Given the description of an element on the screen output the (x, y) to click on. 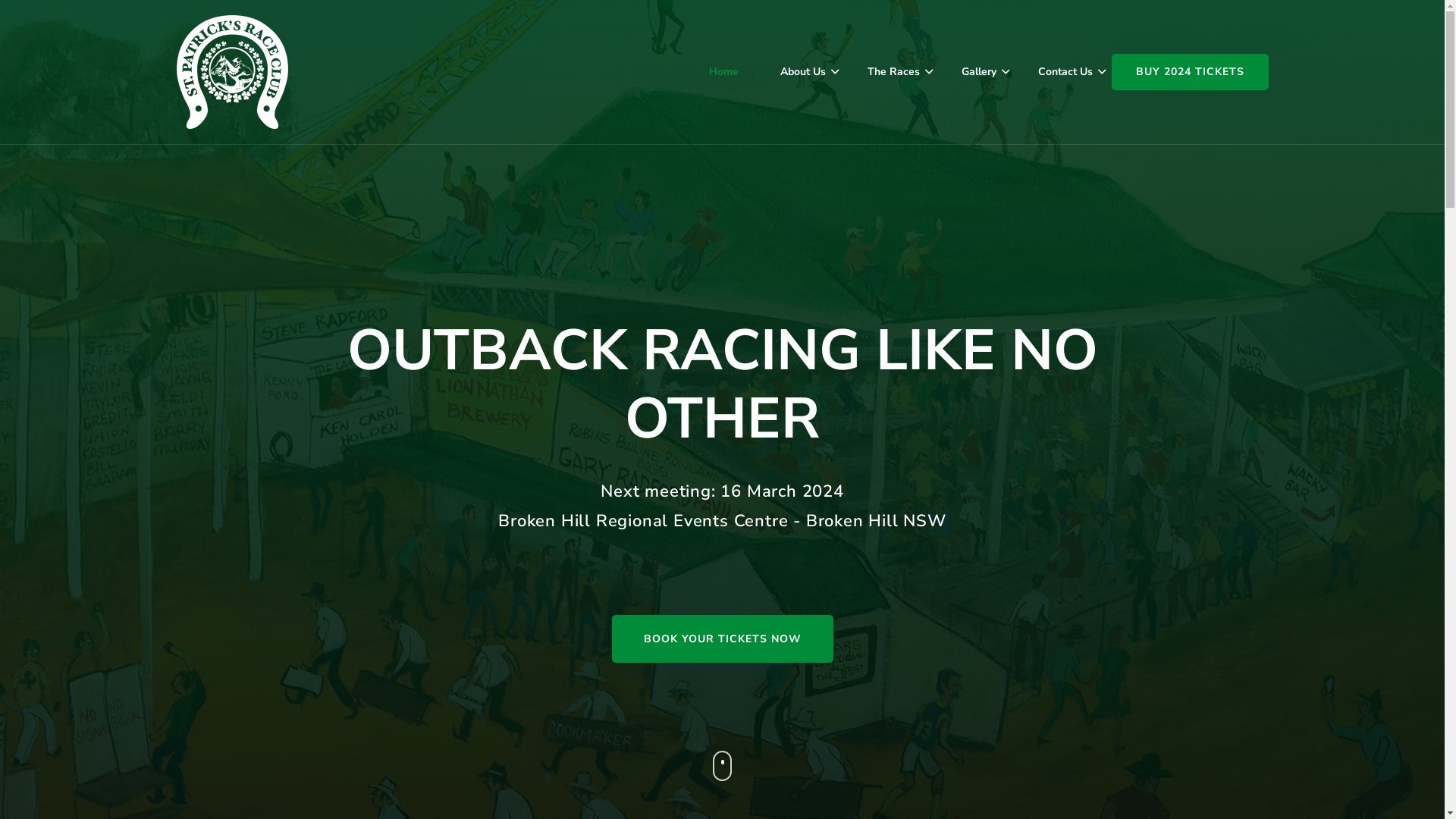
BOOK YOUR TICKETS NOW Element type: text (721, 638)
About Us Element type: text (802, 71)
Contact Us Element type: text (1065, 71)
BUY 2024 TICKETS Element type: text (1189, 71)
Home Element type: text (723, 71)
The Races Element type: text (892, 71)
Gallery Element type: text (977, 71)
